Given the description of an element on the screen output the (x, y) to click on. 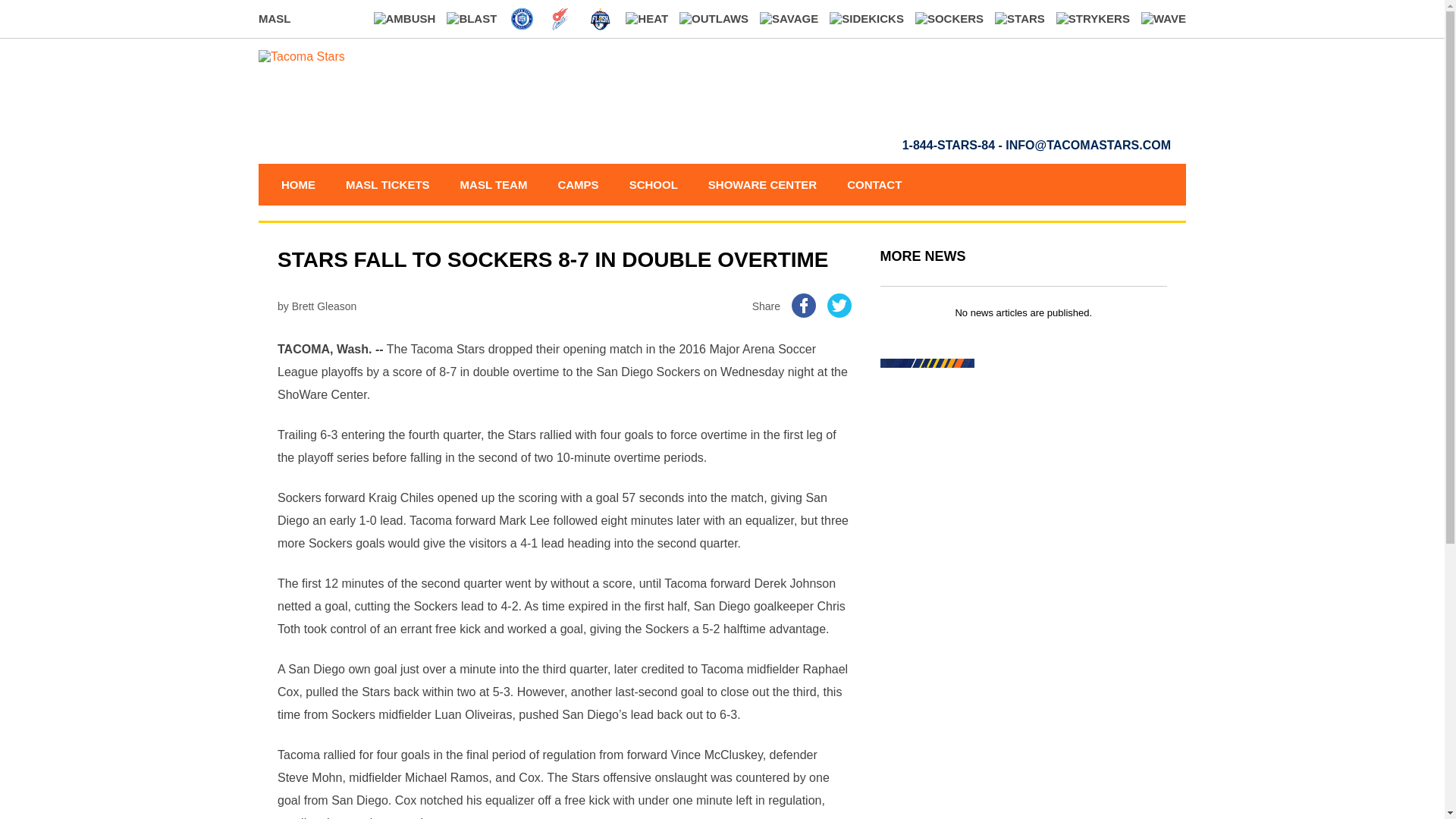
CONTACT (873, 184)
CAMPS (578, 184)
SCHOOL (652, 184)
HOME (297, 184)
MASL (275, 18)
